Given the description of an element on the screen output the (x, y) to click on. 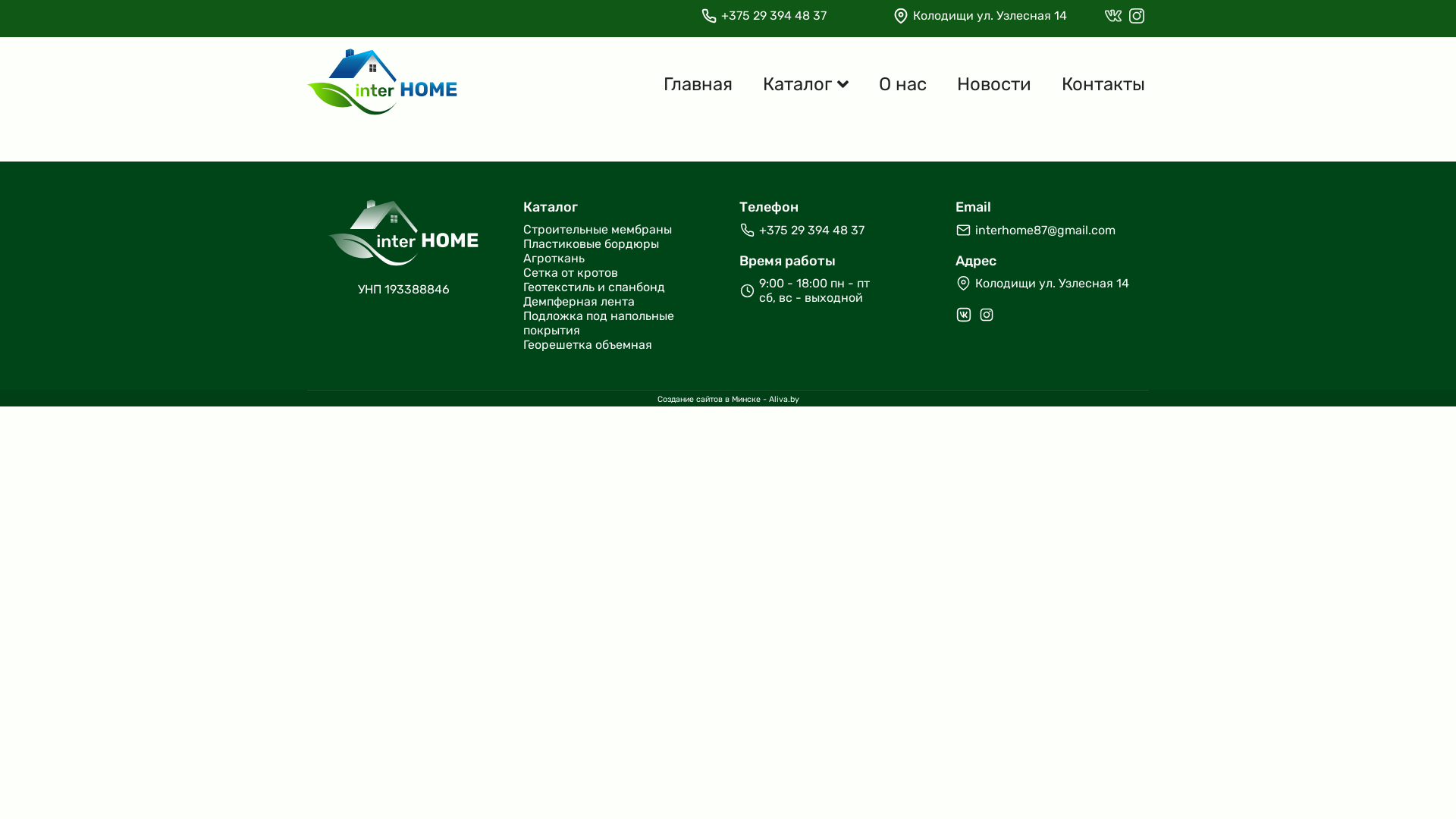
+375 29 394 48 37 Element type: text (773, 15)
interhome87@gmail.com Element type: text (1045, 229)
+375 29 394 48 37 Element type: text (811, 229)
